Given the description of an element on the screen output the (x, y) to click on. 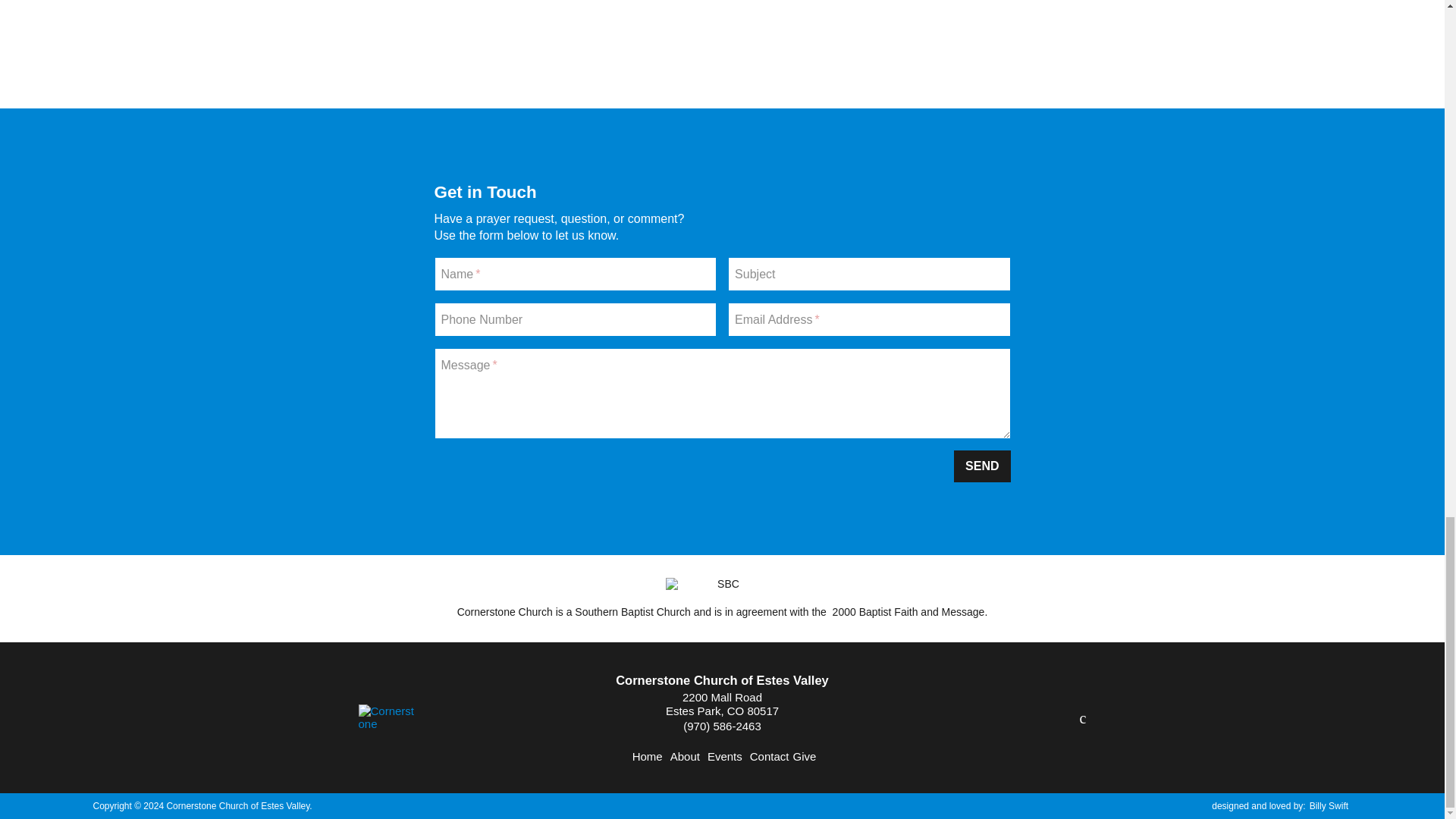
SEND (981, 466)
Give (803, 756)
About (684, 756)
Home (646, 756)
Events (724, 756)
Billy Swift (1328, 805)
Contact (769, 756)
